Given the description of an element on the screen output the (x, y) to click on. 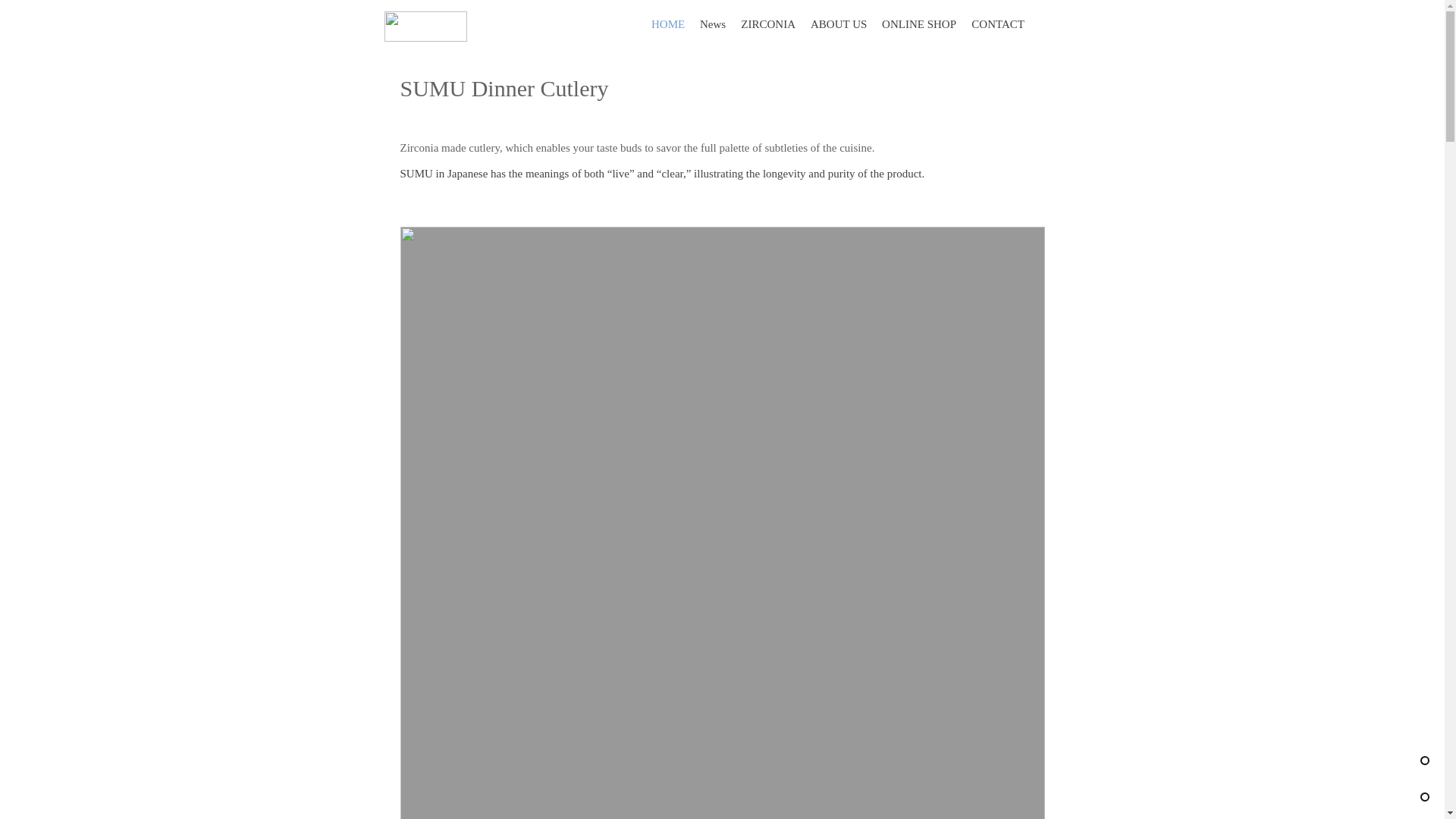
HOME (668, 24)
CONTACT (997, 24)
ONLINE SHOP (919, 24)
ZIRCONIA (768, 24)
News (713, 24)
ABOUT US (839, 24)
